Given the description of an element on the screen output the (x, y) to click on. 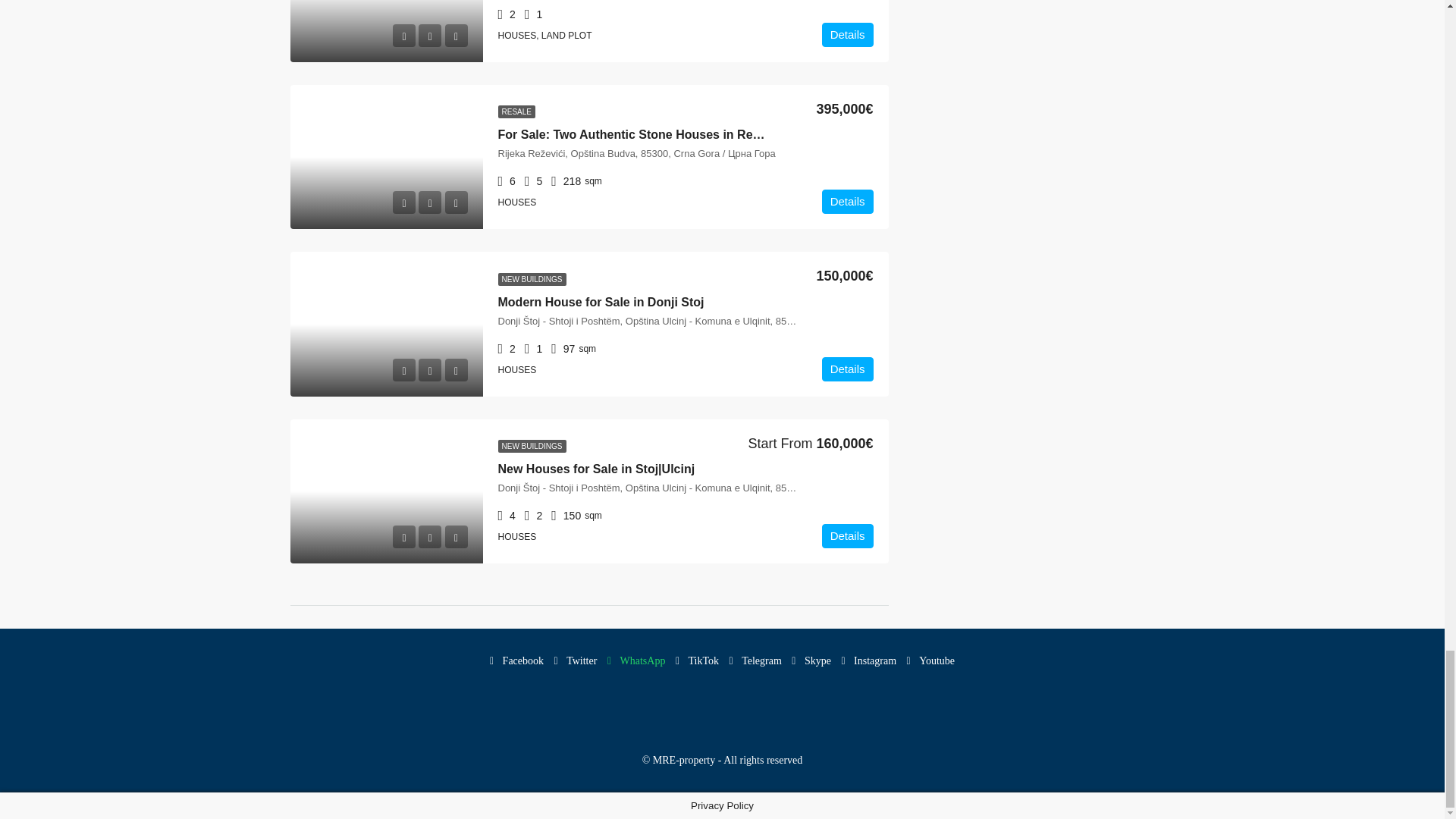
Favourite (430, 201)
Preview (403, 35)
Preview (403, 201)
Add to Compare (455, 35)
Favourite (430, 35)
